Given the description of an element on the screen output the (x, y) to click on. 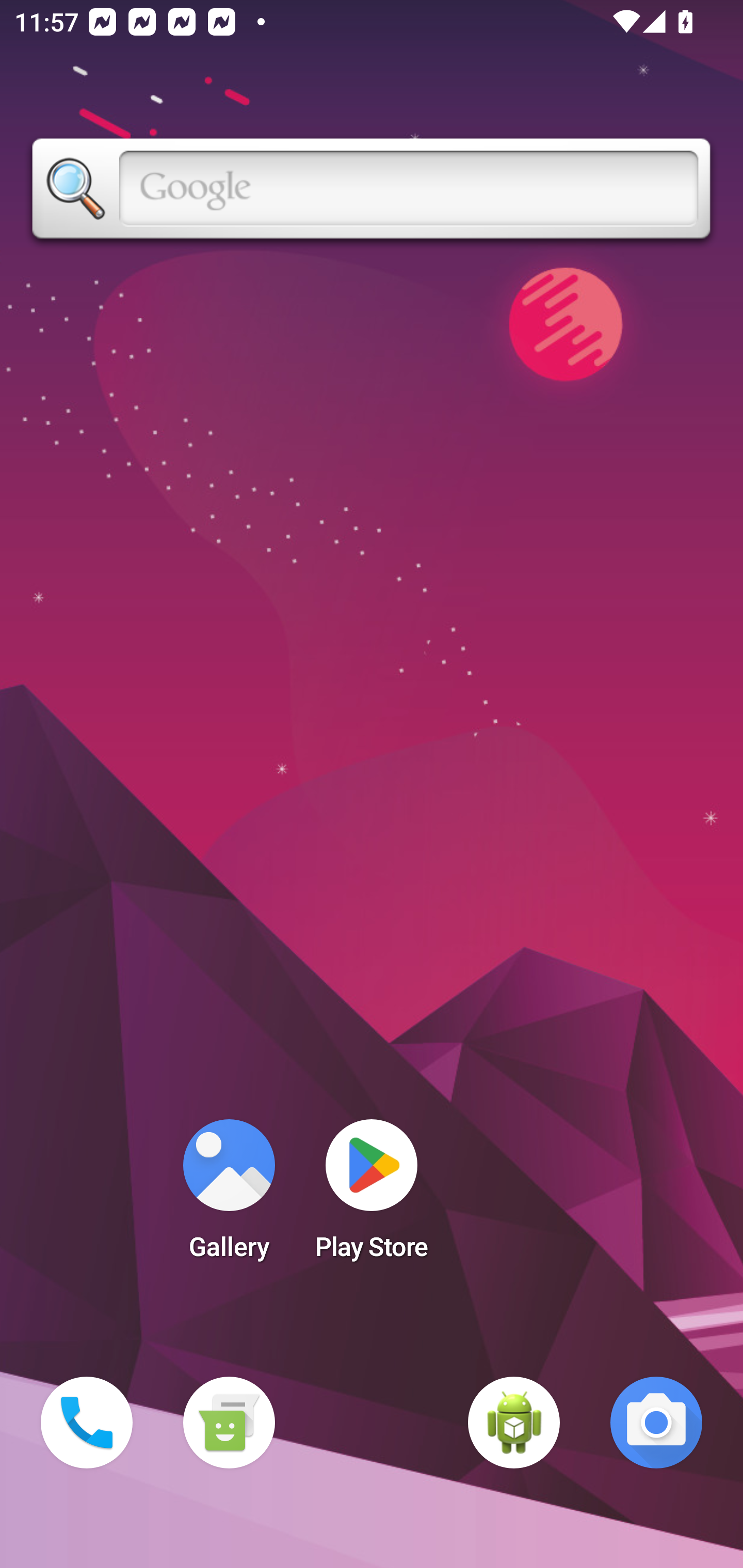
Gallery (228, 1195)
Play Store (371, 1195)
Phone (86, 1422)
Messaging (228, 1422)
WebView Browser Tester (513, 1422)
Camera (656, 1422)
